Given the description of an element on the screen output the (x, y) to click on. 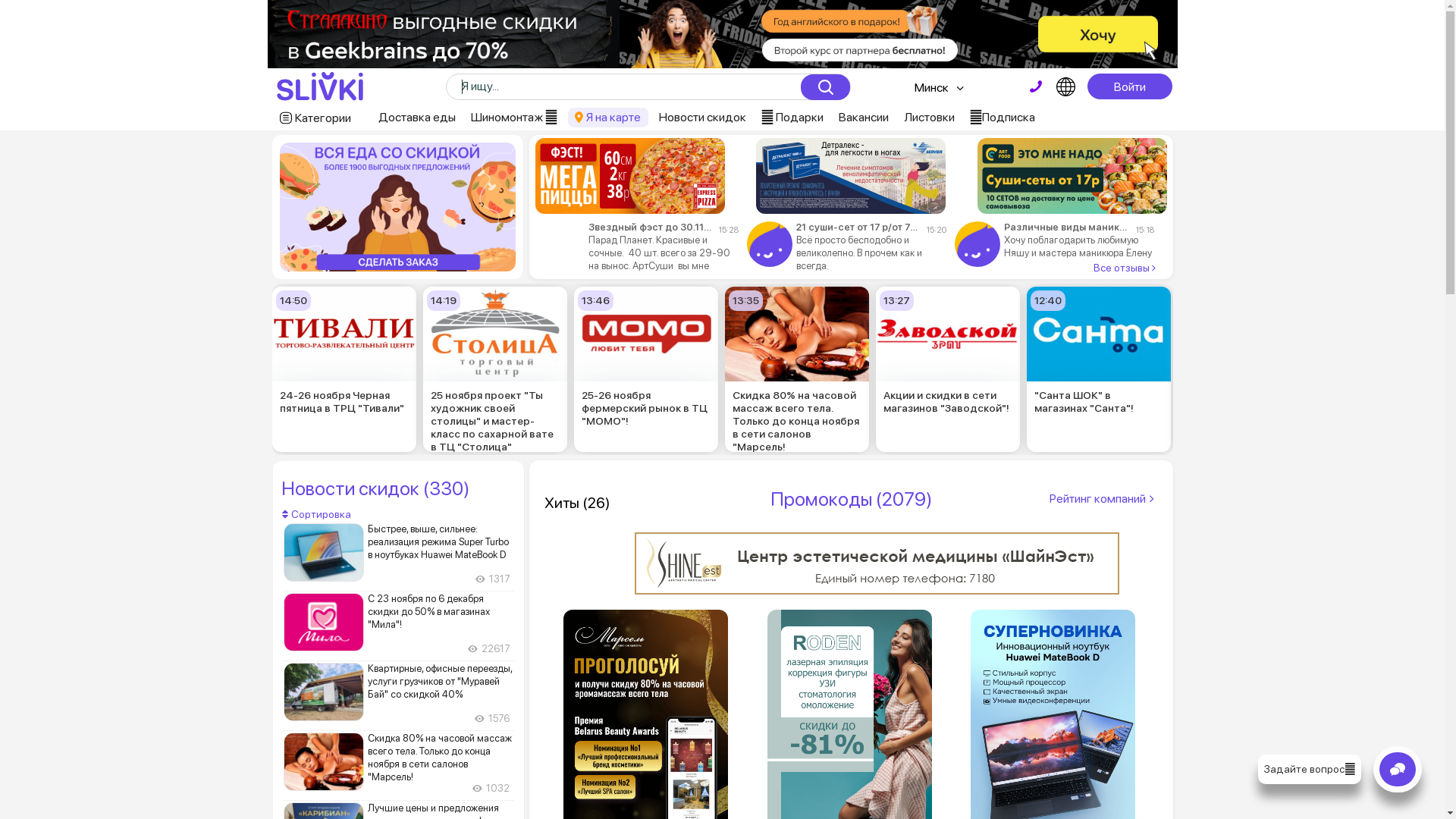
  Element type: text (1035, 86)
